Given the description of an element on the screen output the (x, y) to click on. 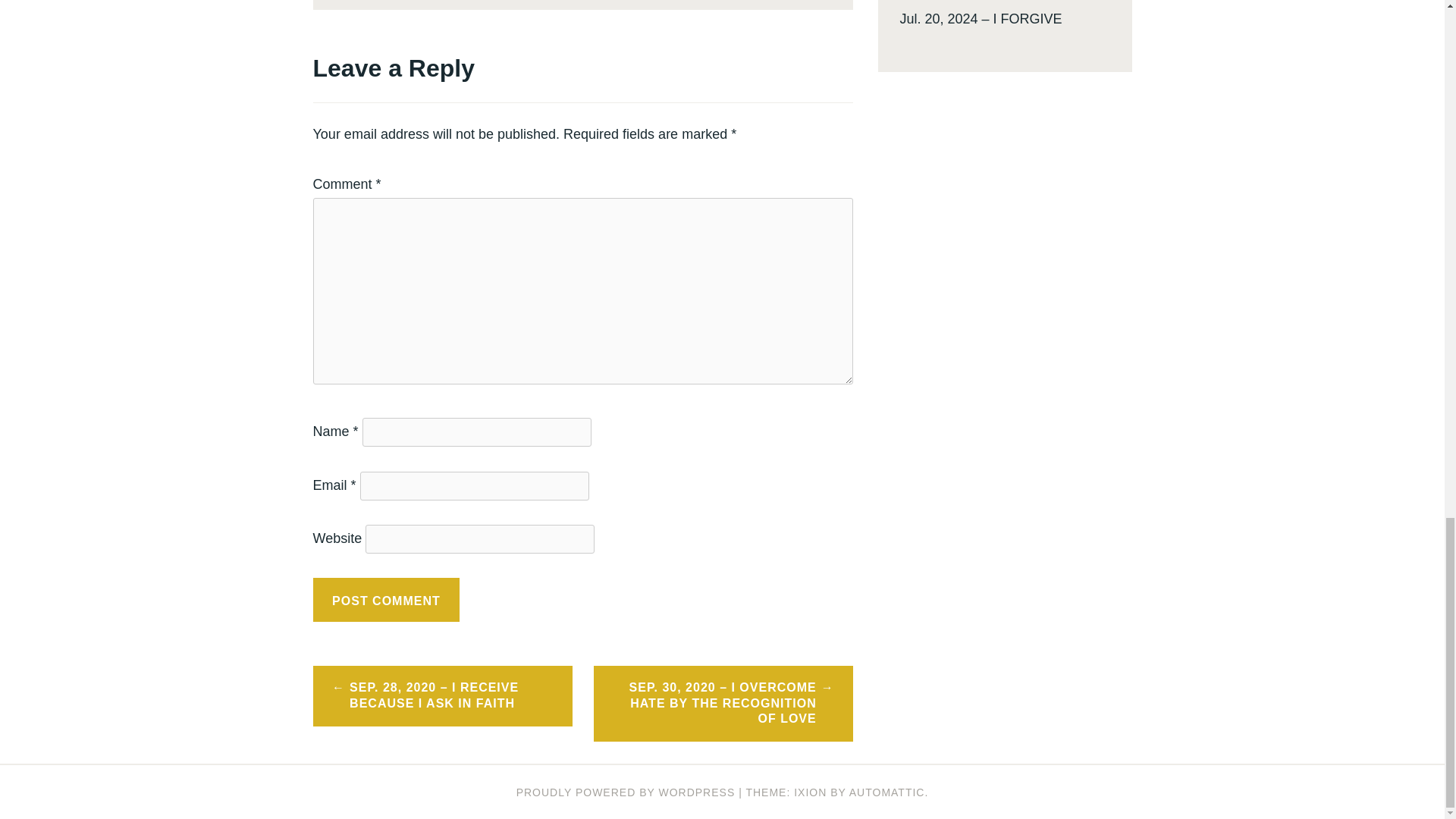
PROUDLY POWERED BY WORDPRESS (625, 792)
Post Comment (386, 599)
Post Comment (386, 599)
AUTOMATTIC (886, 792)
